Given the description of an element on the screen output the (x, y) to click on. 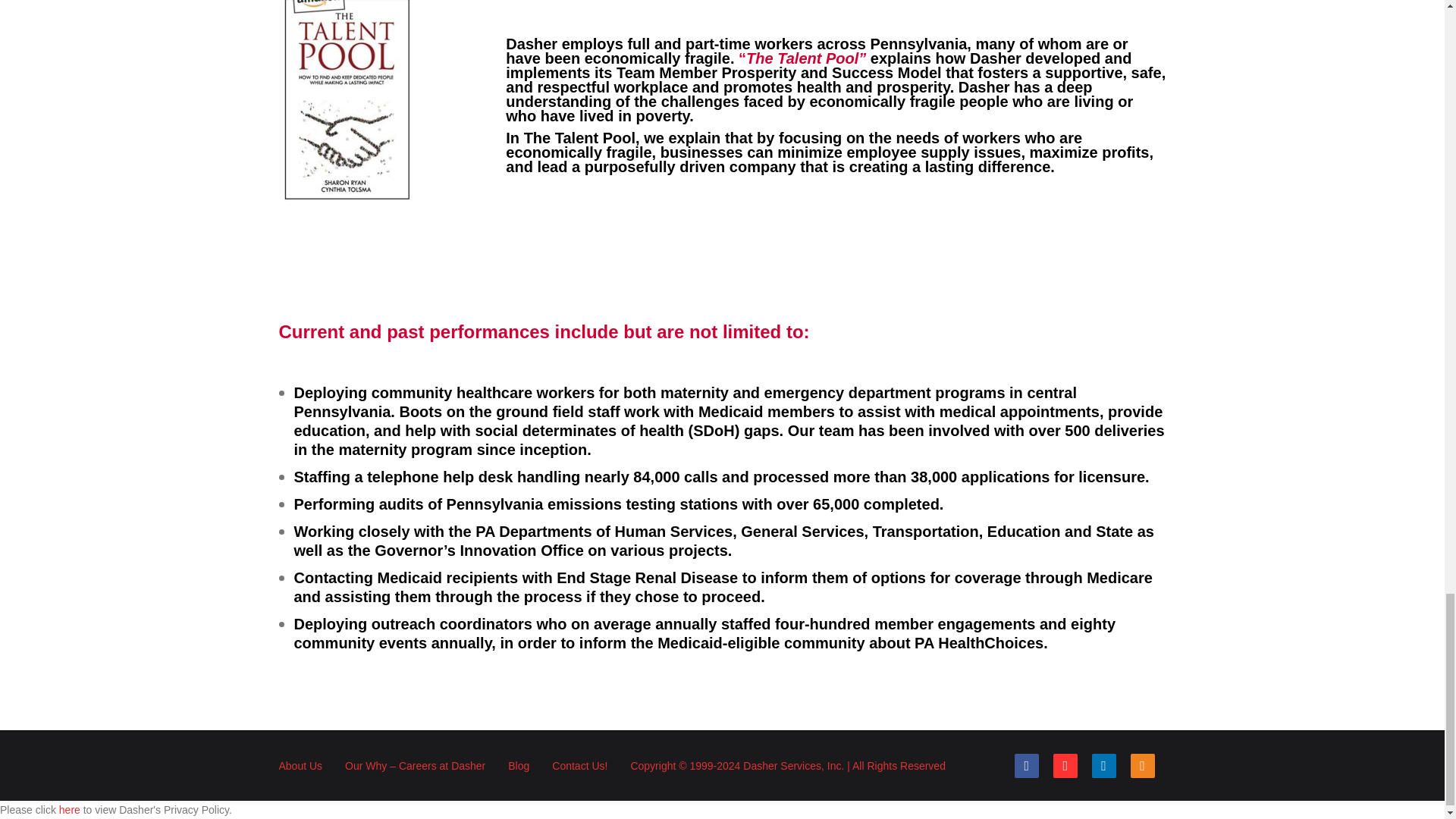
Contact Us! (579, 766)
Blog (518, 766)
Dasher Services, Inc. (793, 766)
About Us (301, 766)
